Given the description of an element on the screen output the (x, y) to click on. 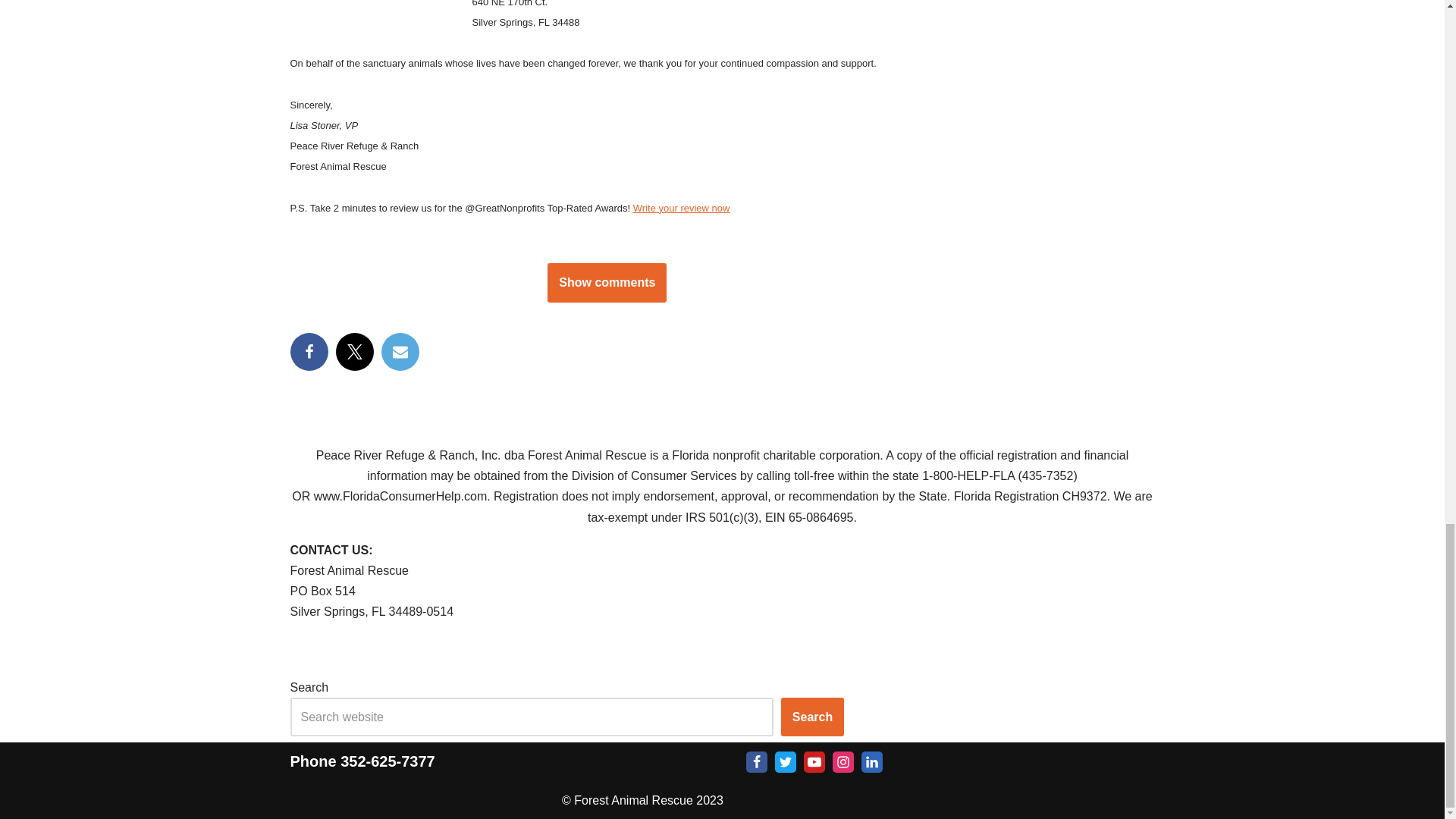
Facebook (308, 351)
Facebook (756, 762)
Youtube (814, 762)
Twitter (785, 762)
Instagram (842, 762)
Email (399, 351)
LinkedIn (871, 762)
X (353, 351)
